Given the description of an element on the screen output the (x, y) to click on. 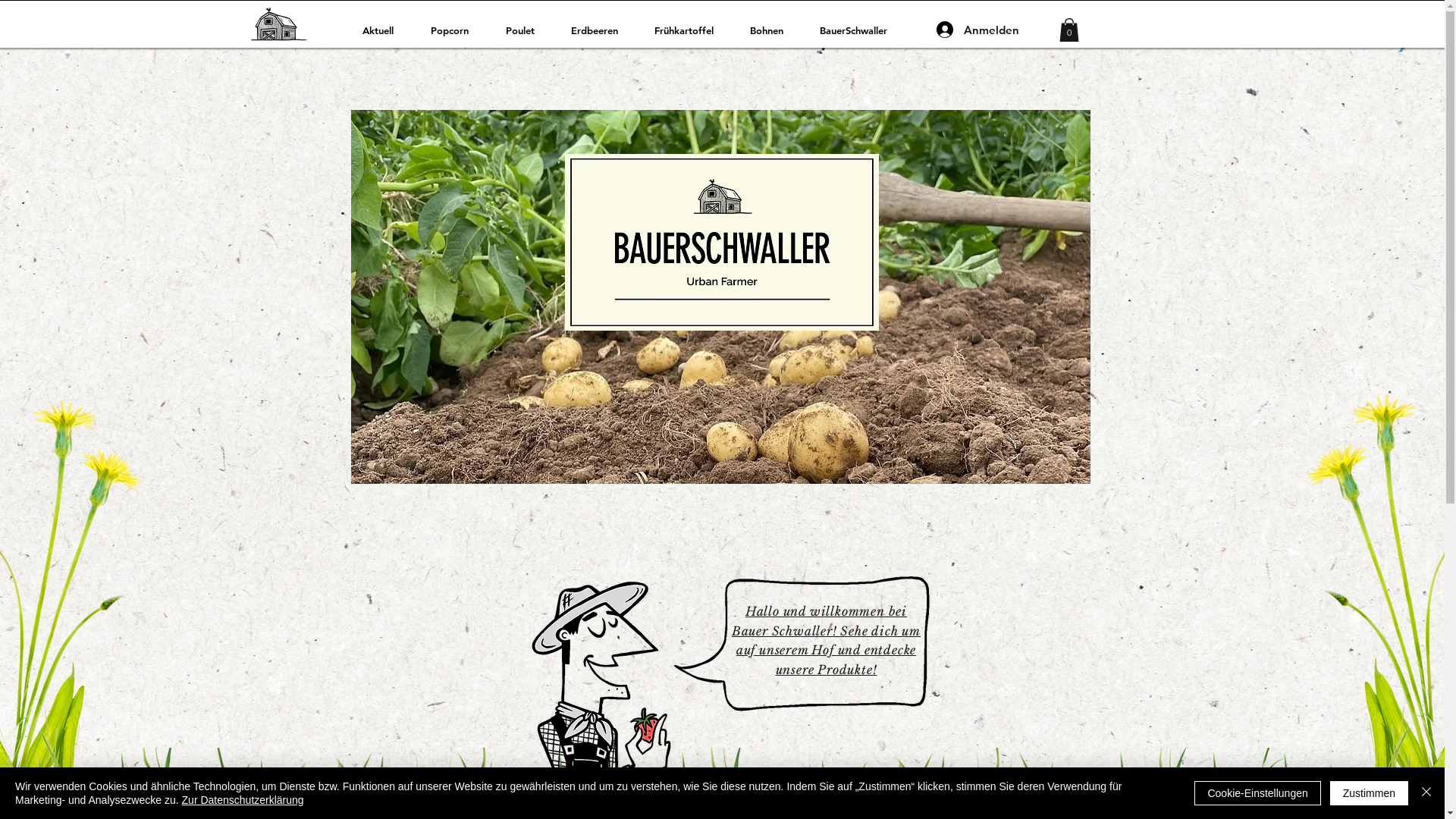
Poulet Element type: text (526, 29)
Aktuell Element type: text (384, 29)
Zustimmen Element type: text (1369, 793)
Bohnen Element type: text (773, 29)
BauerSchwaller Element type: text (860, 29)
Popcorn Element type: text (455, 29)
Cookie-Einstellungen Element type: text (1257, 793)
Anmelden Element type: text (954, 29)
0 Element type: text (1068, 29)
Erdbeeren Element type: text (601, 29)
